Given the description of an element on the screen output the (x, y) to click on. 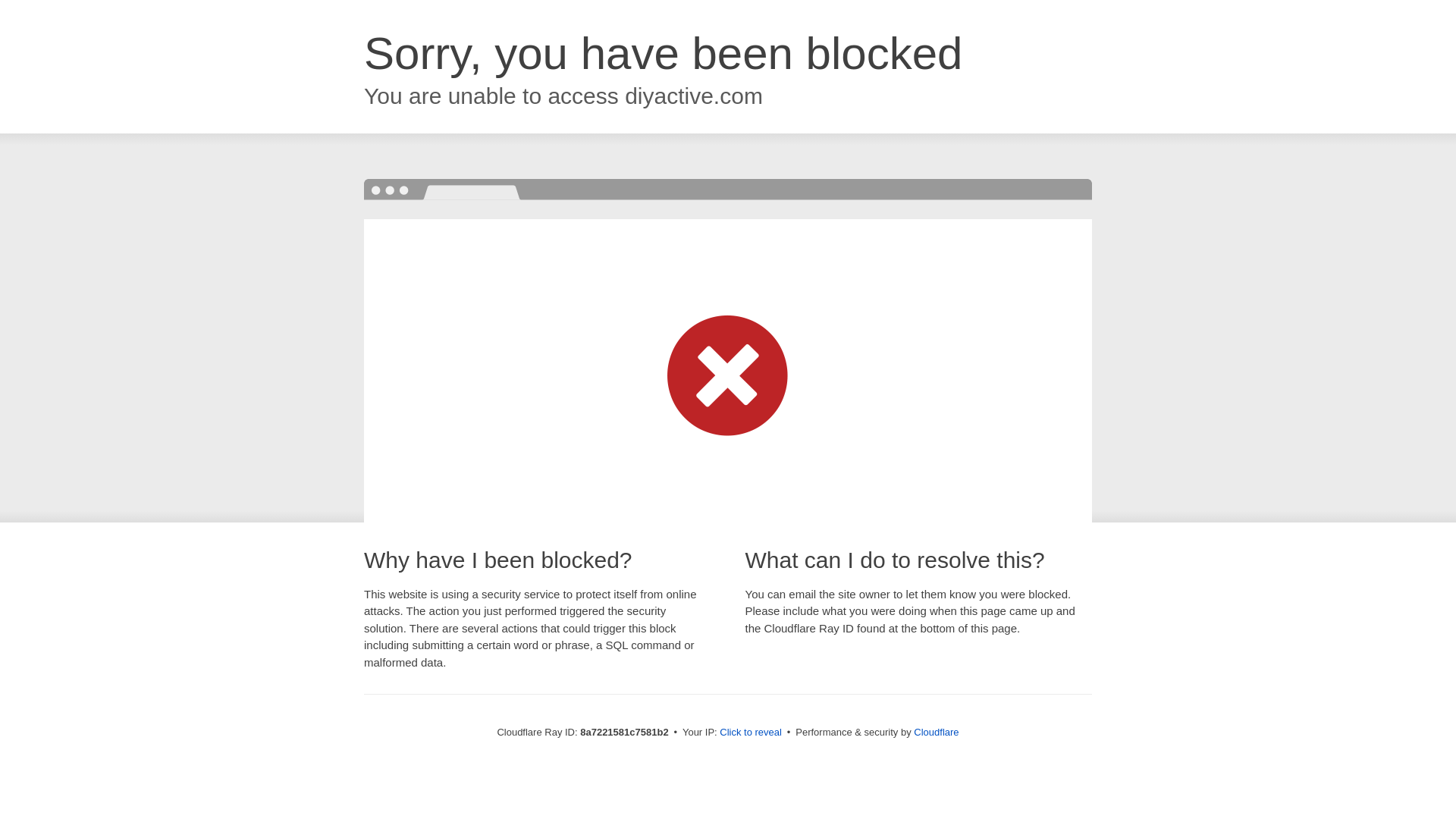
Cloudflare (936, 731)
Click to reveal (750, 732)
